Given the description of an element on the screen output the (x, y) to click on. 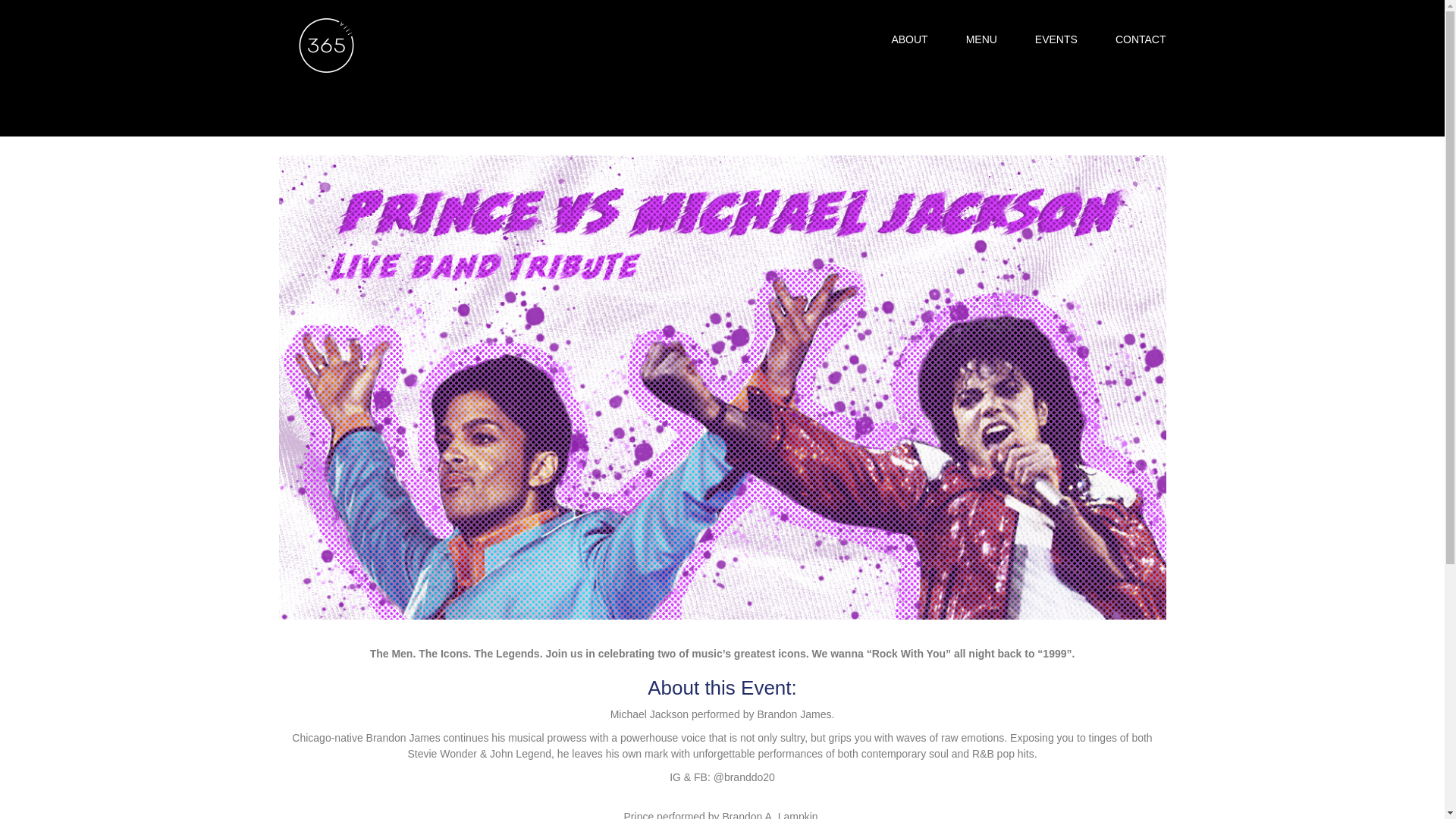
CONTACT Element type: text (1140, 39)
Contact Us! Element type: text (1116, 56)
EVENTS Element type: text (1056, 39)
ABOUT Element type: text (909, 39)
Home Element type: text (299, 15)
MENU Element type: text (981, 39)
